Given the description of an element on the screen output the (x, y) to click on. 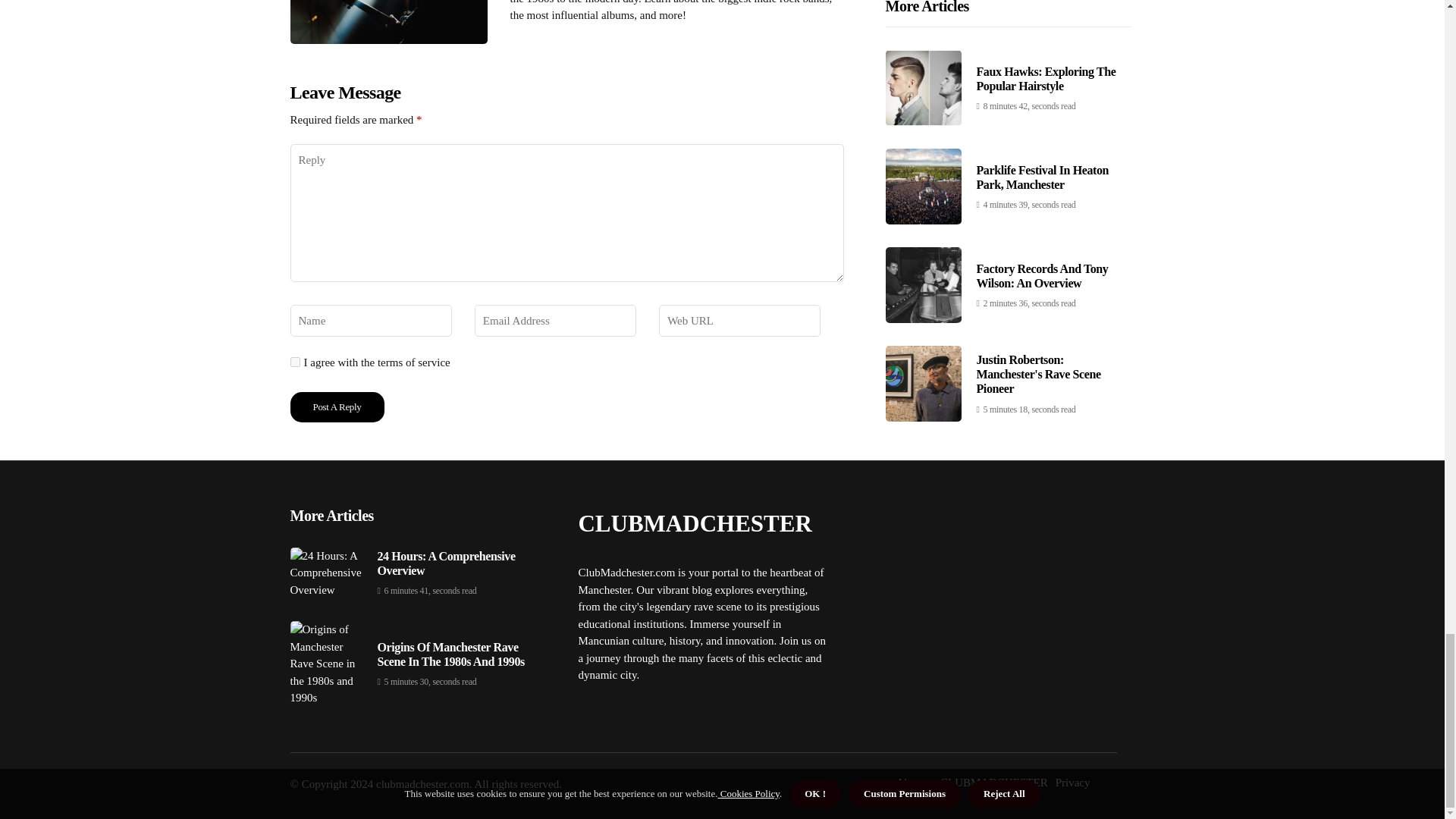
yes (294, 361)
Post a Reply (336, 407)
